Given the description of an element on the screen output the (x, y) to click on. 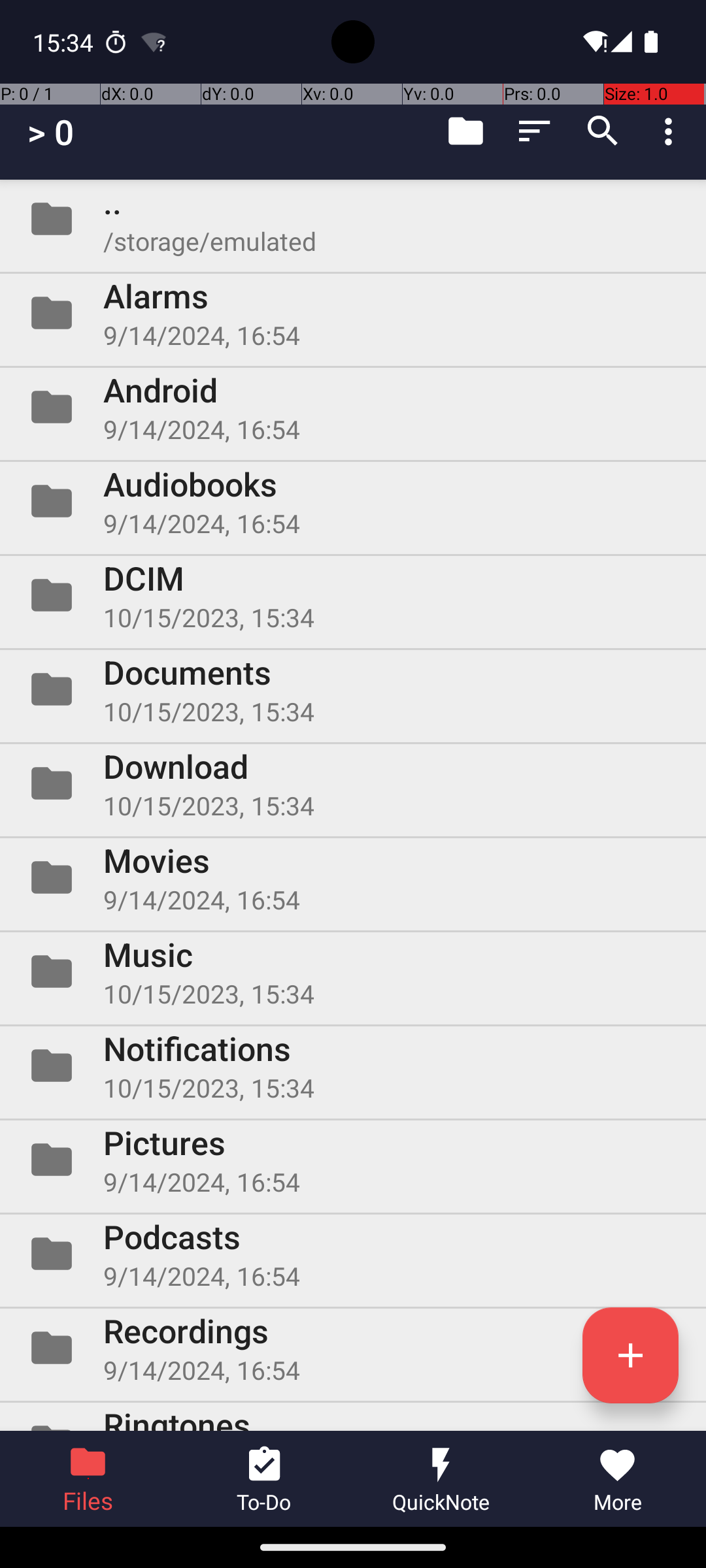
> 0 Element type: android.widget.TextView (50, 131)
Folder .. /storage/emulated/0 Element type: android.widget.LinearLayout (353, 218)
Folder Alarms 10/15/2023, 15:34 Element type: android.widget.LinearLayout (353, 312)
Folder Android  Element type: android.widget.LinearLayout (353, 406)
Folder Audiobooks  Element type: android.widget.LinearLayout (353, 500)
Folder DCIM  Element type: android.widget.LinearLayout (353, 594)
Folder Documents  Element type: android.widget.LinearLayout (353, 689)
Folder Download  Element type: android.widget.LinearLayout (353, 783)
Folder Movies  Element type: android.widget.LinearLayout (353, 877)
Folder Music  Element type: android.widget.LinearLayout (353, 971)
Folder Notifications  Element type: android.widget.LinearLayout (353, 1065)
Folder Pictures  Element type: android.widget.LinearLayout (353, 1159)
Folder Podcasts  Element type: android.widget.LinearLayout (353, 1253)
Folder Recordings  Element type: android.widget.LinearLayout (353, 1347)
Folder Ringtones  Element type: android.widget.LinearLayout (353, 1416)
